Given the description of an element on the screen output the (x, y) to click on. 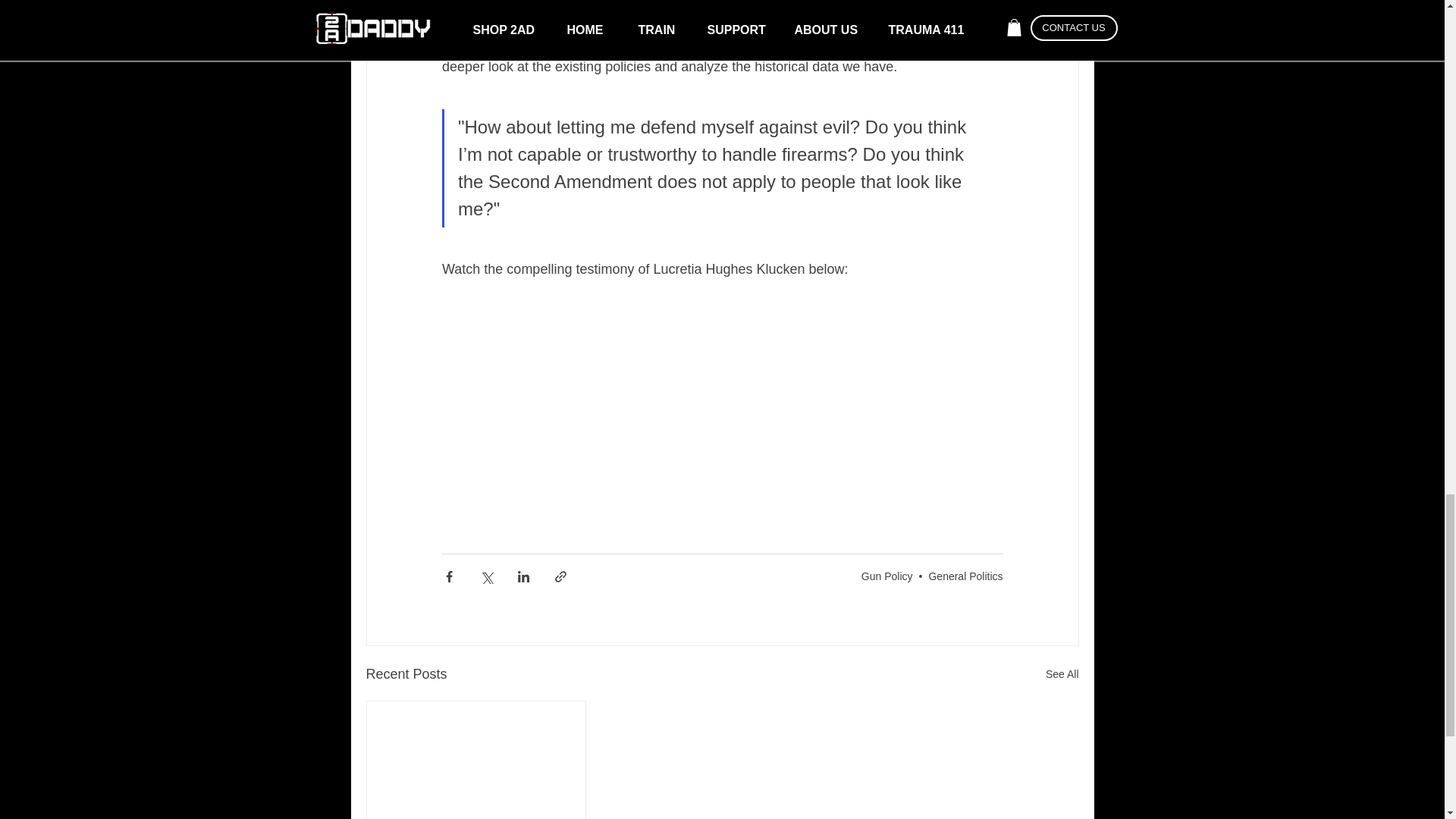
See All (1061, 674)
Gun Policy (886, 576)
General Politics (965, 576)
